Given the description of an element on the screen output the (x, y) to click on. 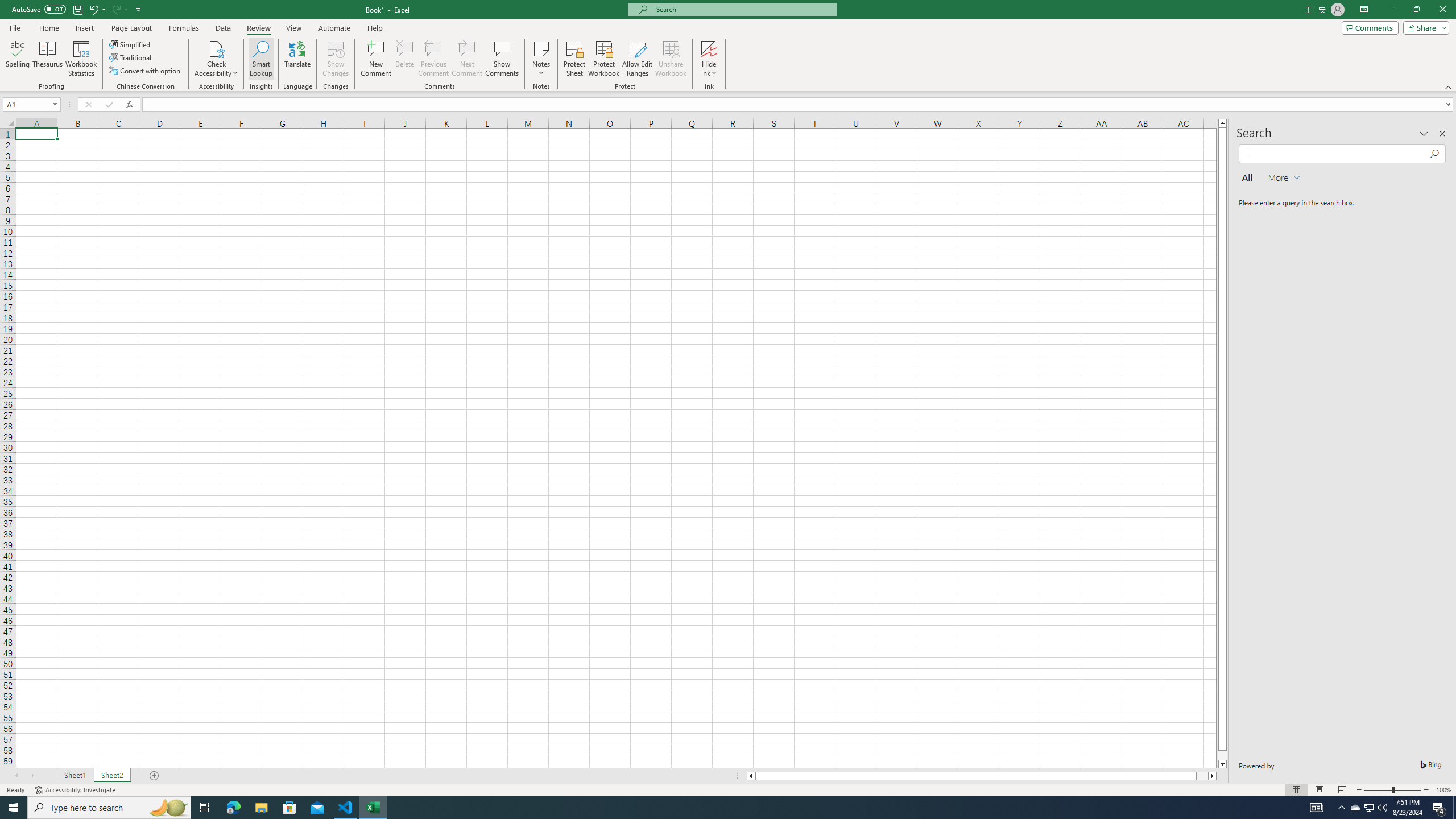
Hide Ink (708, 48)
Translate (297, 58)
New Comment (376, 58)
Task Pane Options (1423, 133)
Thesaurus... (47, 58)
Sheet2 (112, 775)
Previous Comment (432, 58)
Traditional (131, 56)
